Given the description of an element on the screen output the (x, y) to click on. 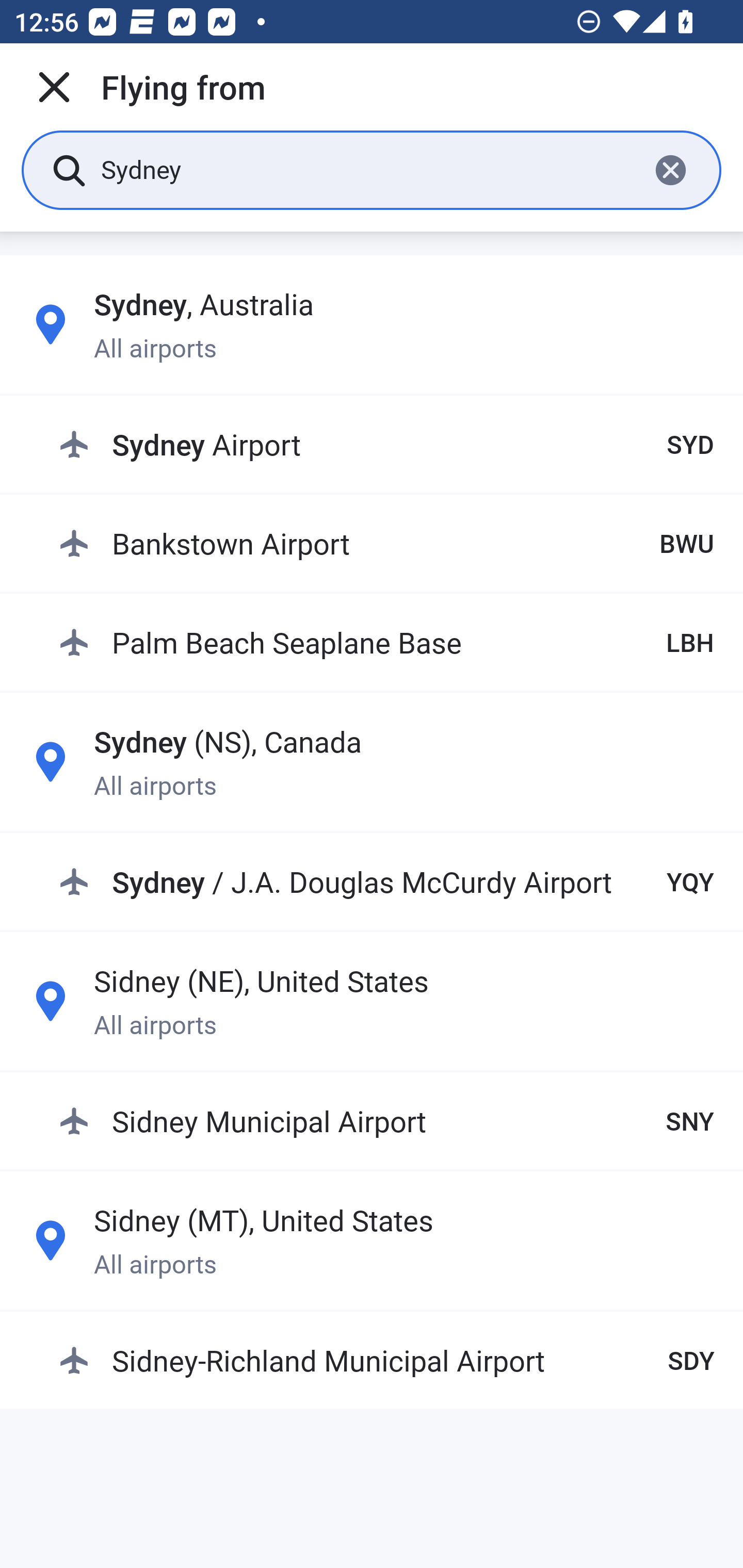
Sydney (367, 169)
Sydney, Australia All airports (371, 324)
Sydney Airport SYD (385, 444)
Bankstown Airport BWU (385, 543)
Palm Beach Seaplane Base LBH (385, 641)
Sydney (NS), Canada All airports (371, 761)
Sydney / J.A. Douglas McCurdy Airport YQY (385, 881)
Sidney (NE), United States All airports (371, 1001)
Sidney Municipal Airport SNY (385, 1120)
Sidney (MT), United States All airports (371, 1240)
Sidney-Richland Municipal Airport SDY (385, 1360)
